Given the description of an element on the screen output the (x, y) to click on. 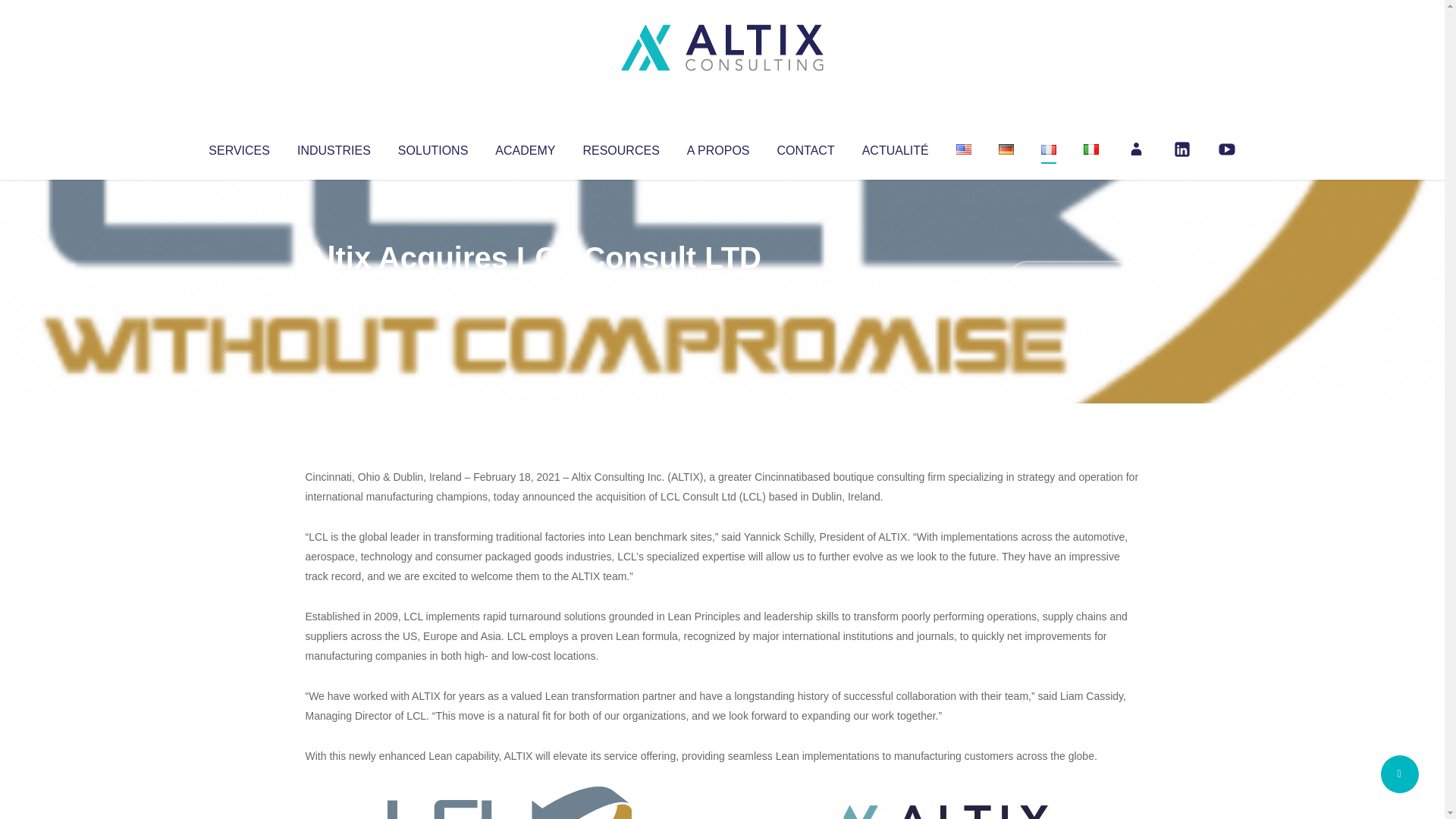
ACADEMY (524, 146)
INDUSTRIES (334, 146)
SERVICES (238, 146)
Articles par Altix (333, 287)
Altix (333, 287)
Uncategorized (530, 287)
SOLUTIONS (432, 146)
No Comments (1073, 278)
RESOURCES (620, 146)
A PROPOS (718, 146)
